Given the description of an element on the screen output the (x, y) to click on. 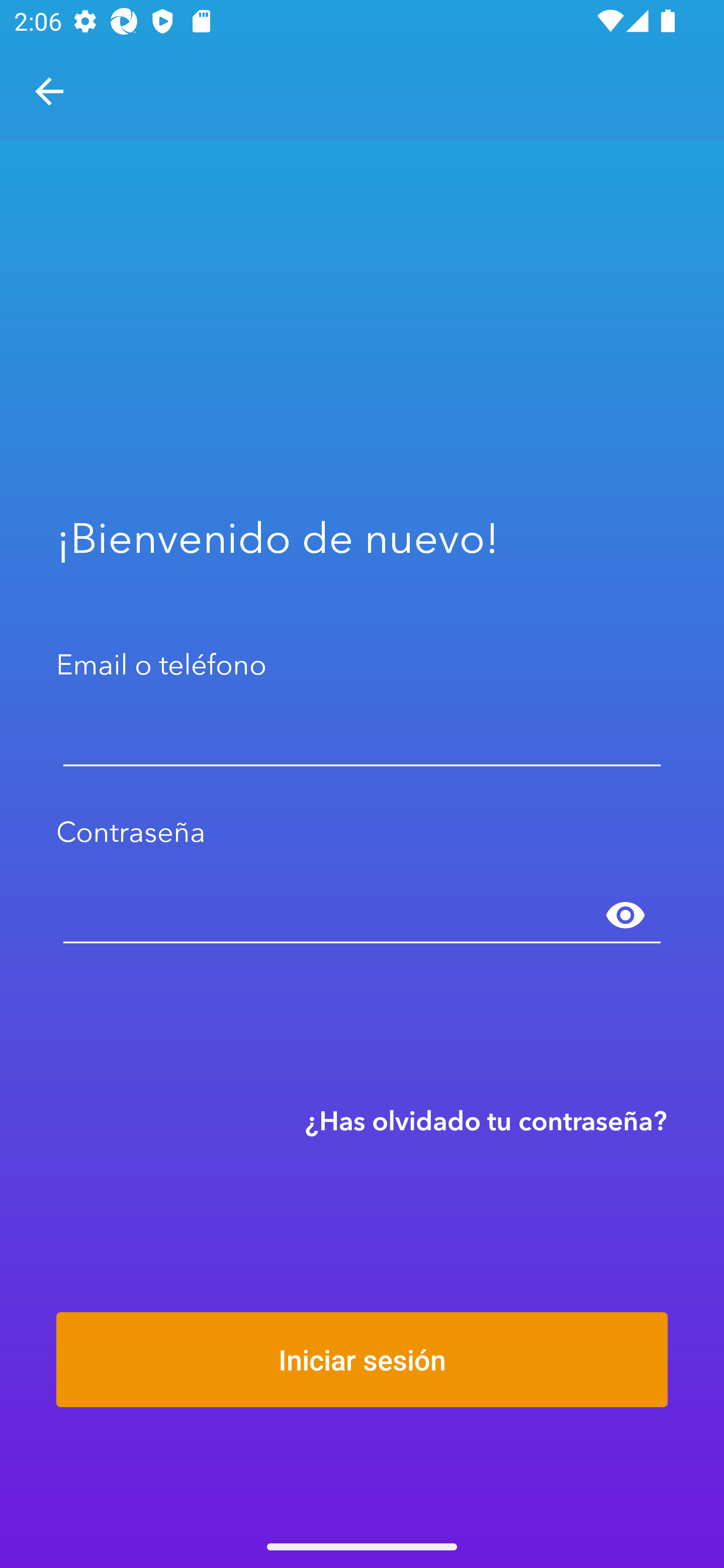
Navegar hacia arriba (49, 91)
Mostrar contraseña (625, 915)
¿Has olvidado tu contraseña? (486, 1119)
Iniciar sesión (361, 1359)
